Given the description of an element on the screen output the (x, y) to click on. 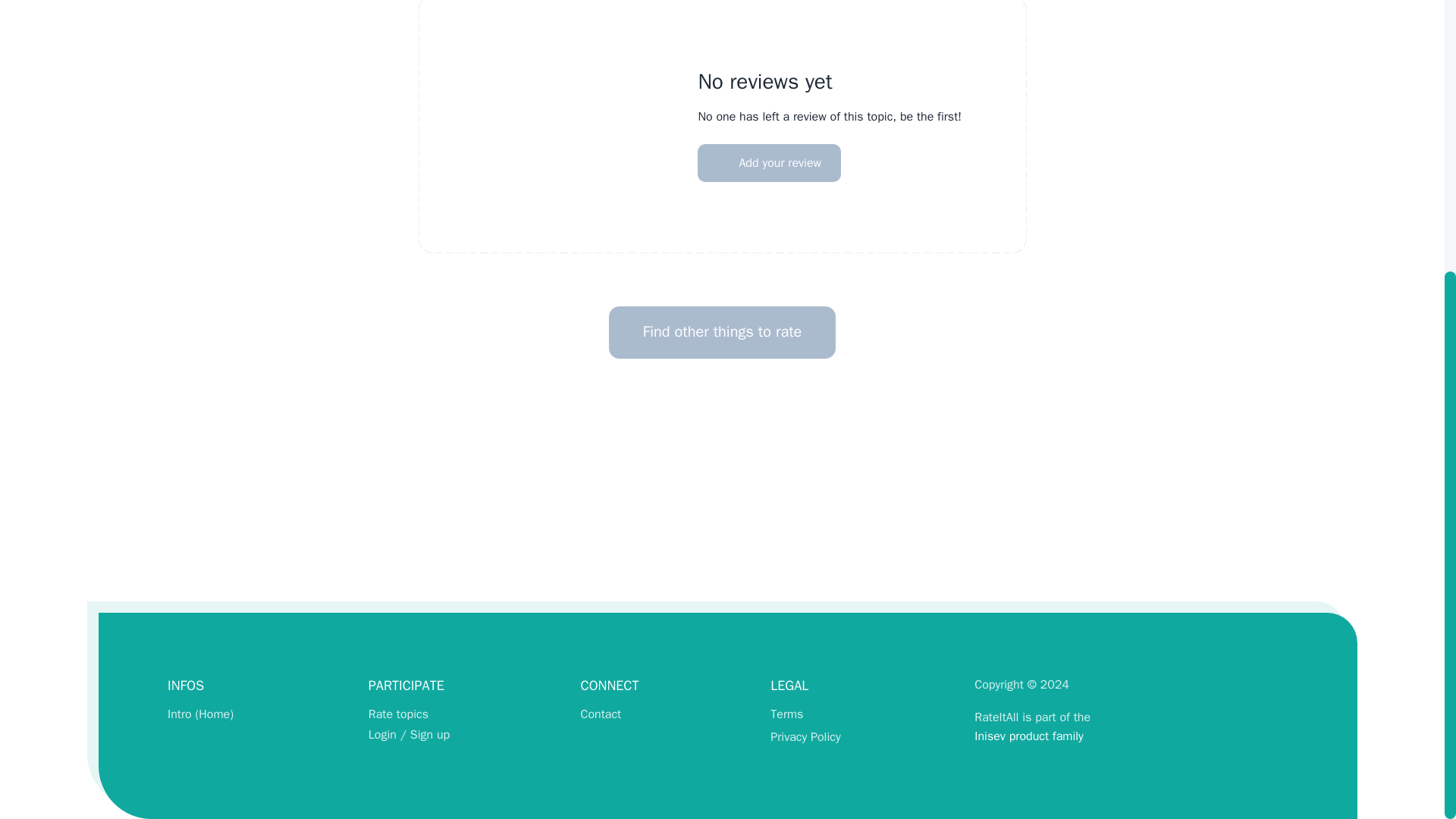
Find other things to rate (721, 332)
Rate topics (398, 714)
Add your review (769, 162)
Inisev product family (1032, 736)
Sign up (429, 734)
Contact (600, 714)
Privacy Policy (805, 736)
Terms (786, 714)
